Given the description of an element on the screen output the (x, y) to click on. 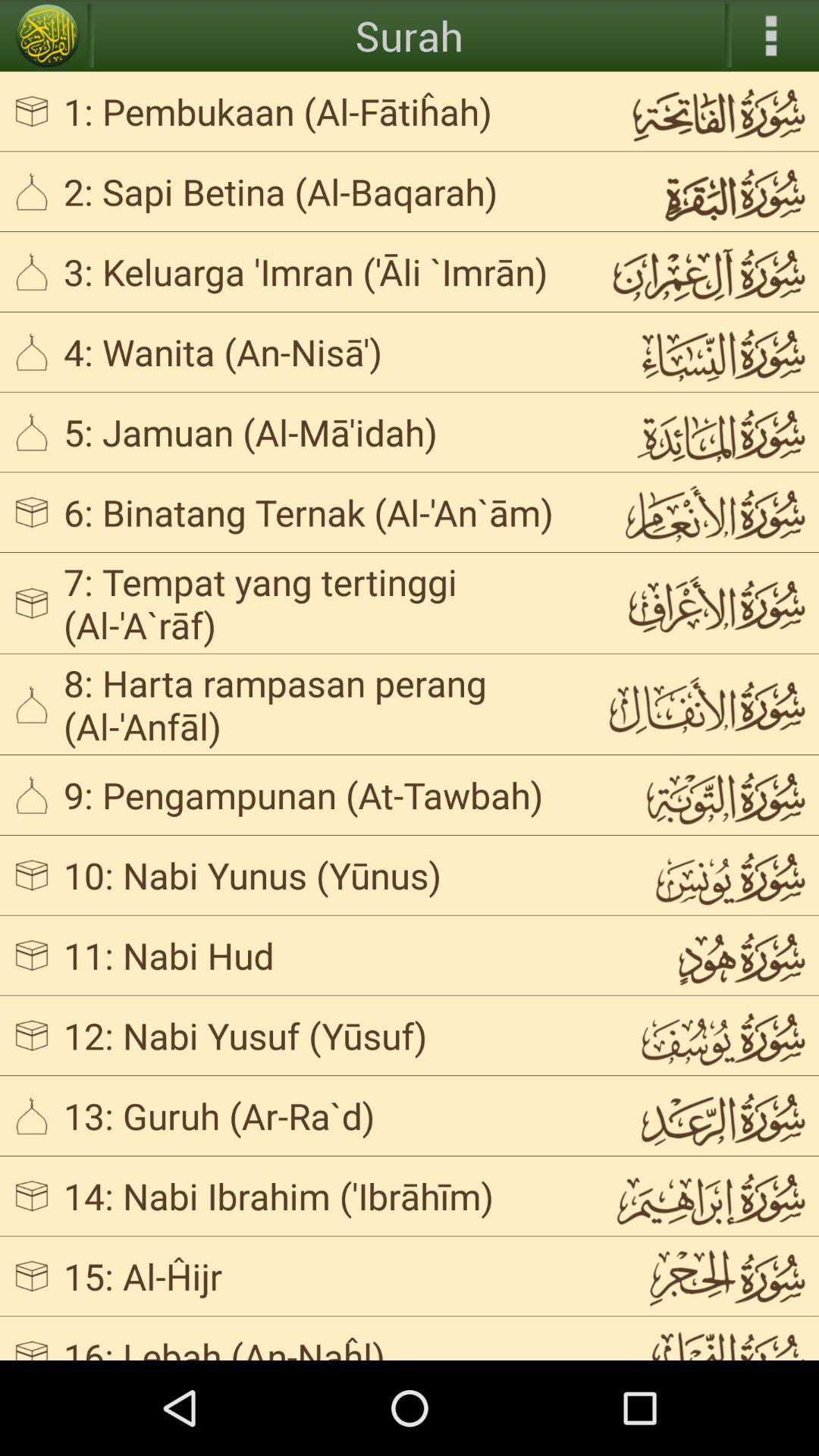
tap 3 keluarga imran icon (322, 271)
